Given the description of an element on the screen output the (x, y) to click on. 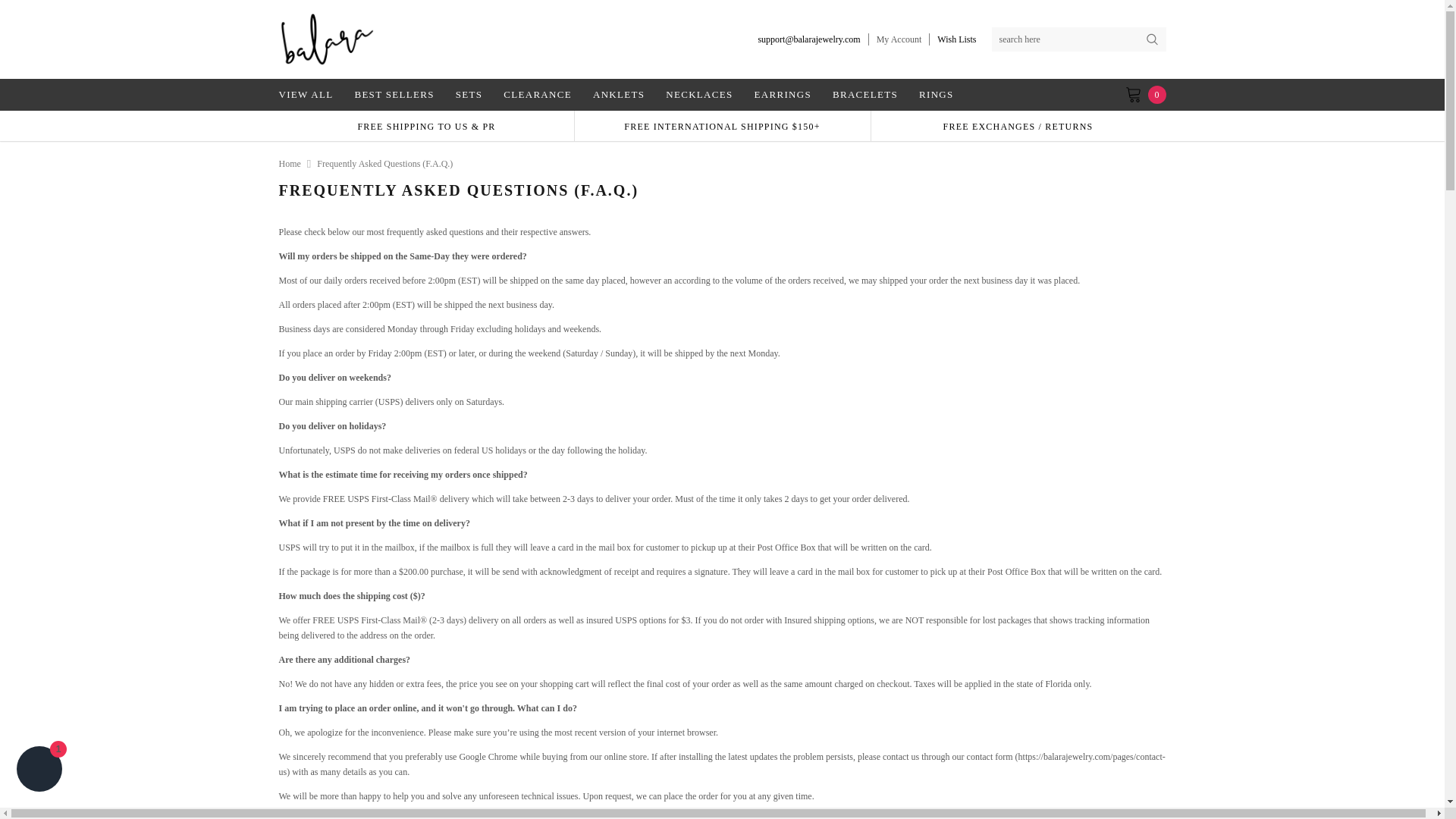
SETS (469, 94)
VIEW ALL (311, 94)
CLEARANCE (537, 94)
Shopify online store chat (38, 770)
NECKLACES (698, 94)
ANKLETS (618, 94)
Wish Lists (956, 39)
BEST SELLERS (393, 94)
My Account (898, 39)
